Given the description of an element on the screen output the (x, y) to click on. 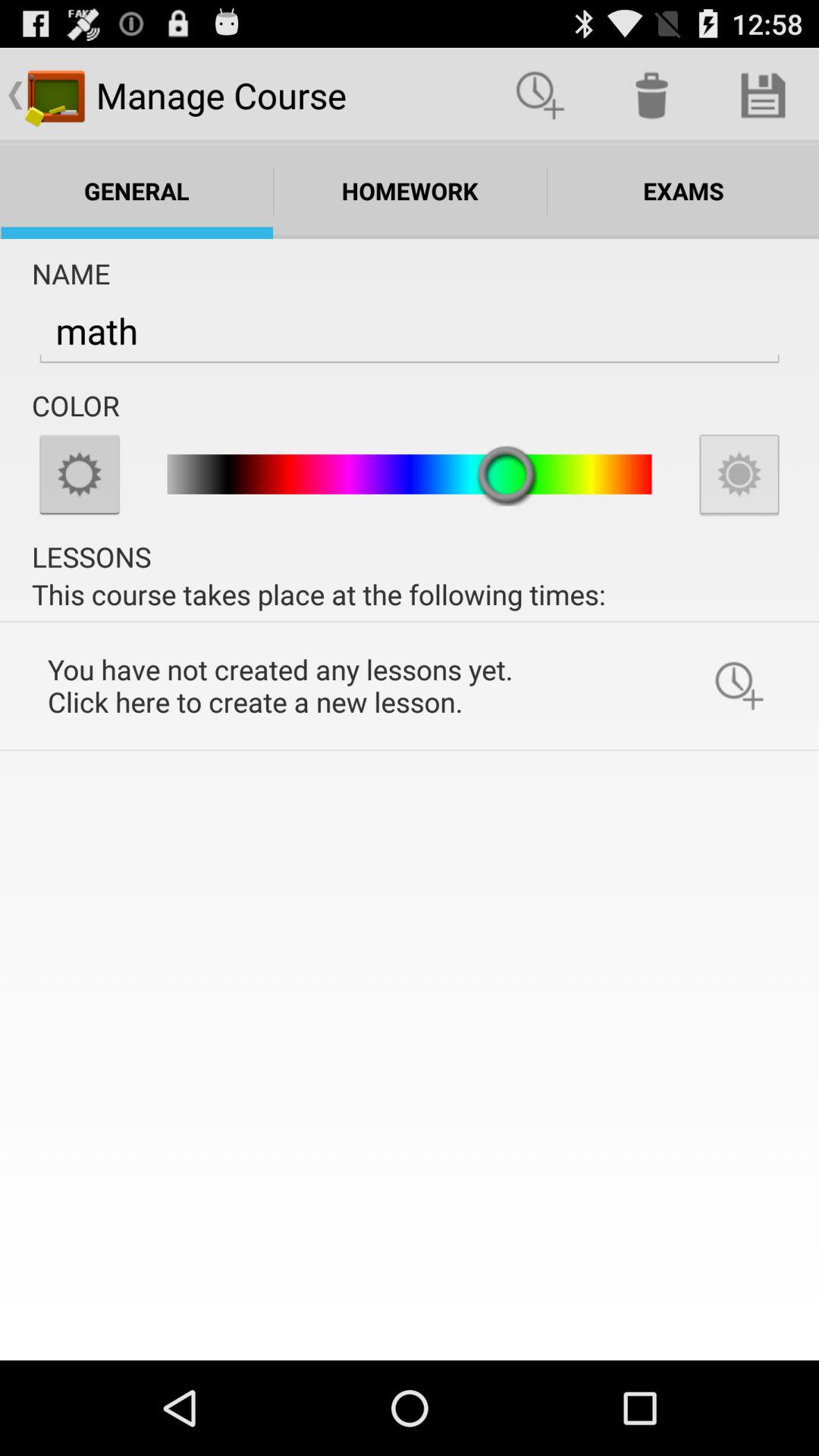
tap for options (79, 474)
